Given the description of an element on the screen output the (x, y) to click on. 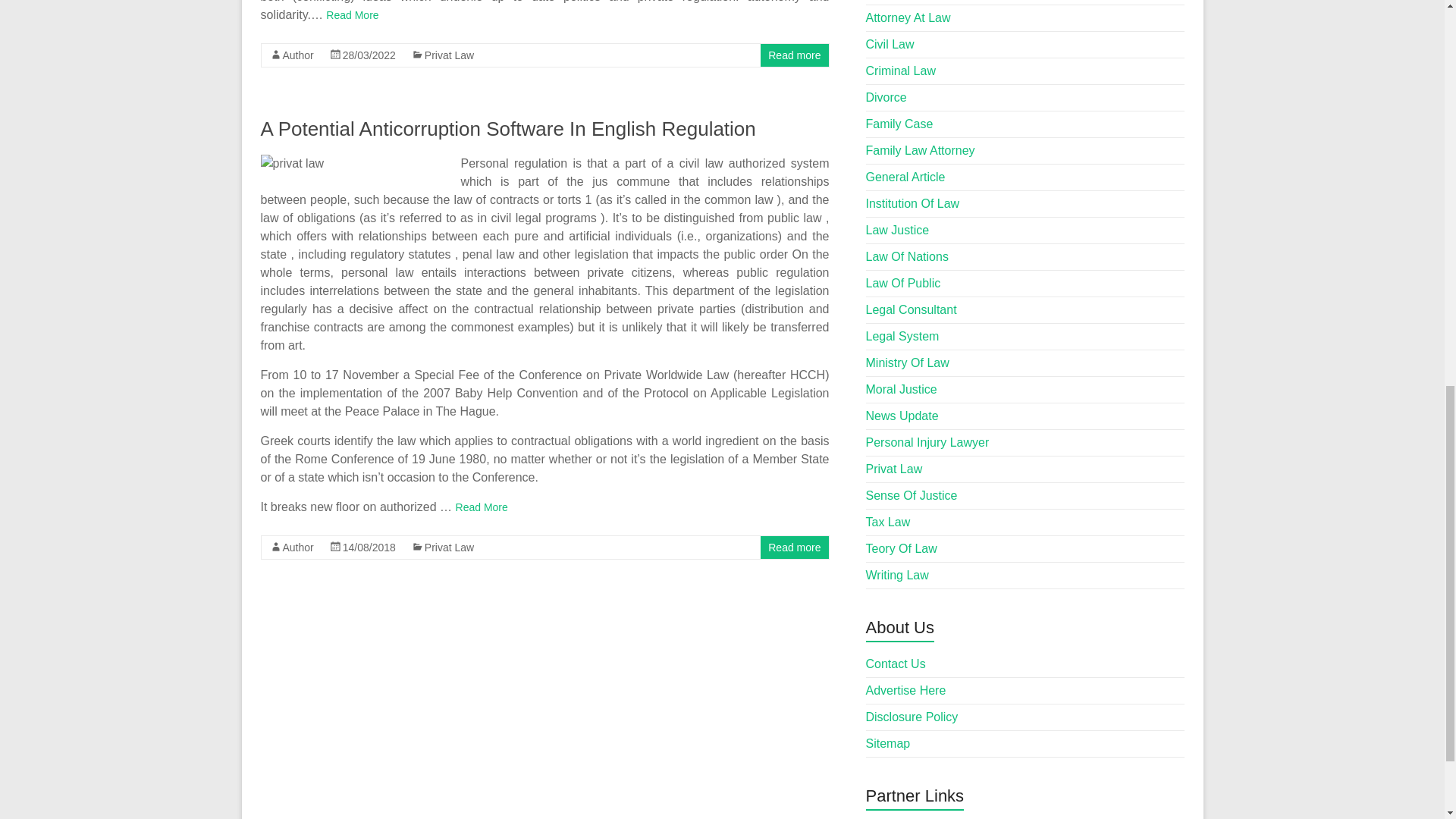
A Potential Anticorruption Software In English Regulation (507, 128)
Privat Law (449, 547)
Read More (352, 15)
Author (297, 547)
Privat Law (449, 55)
Read More (481, 507)
A Potential Anticorruption Software In English Regulation (507, 128)
16:50 (369, 55)
Read more (794, 55)
Author (297, 55)
14:58 (369, 547)
